Given the description of an element on the screen output the (x, y) to click on. 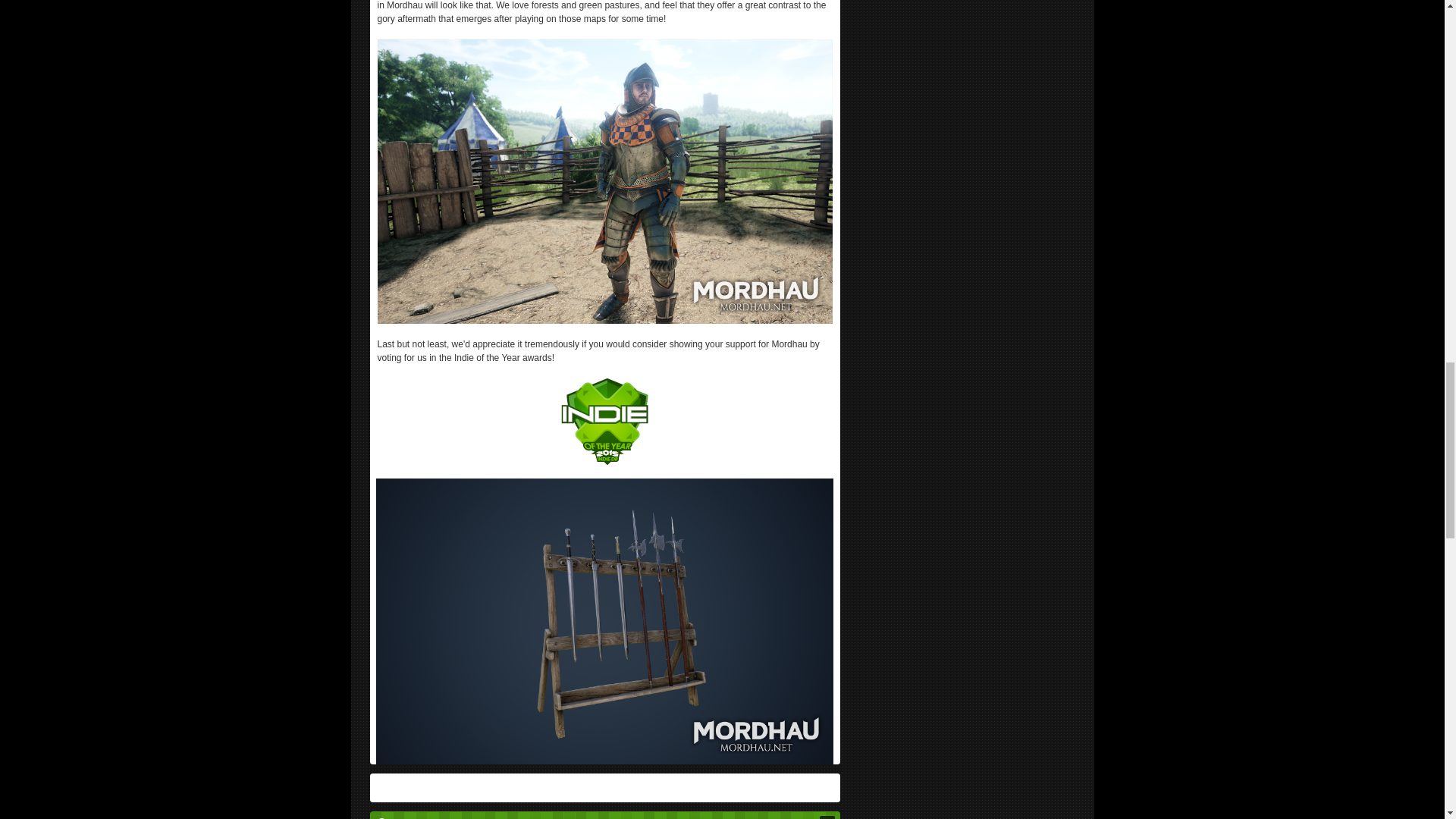
Post comment (826, 817)
Vote for us in the 2015 Indie of the Year Awards (603, 420)
